Given the description of an element on the screen output the (x, y) to click on. 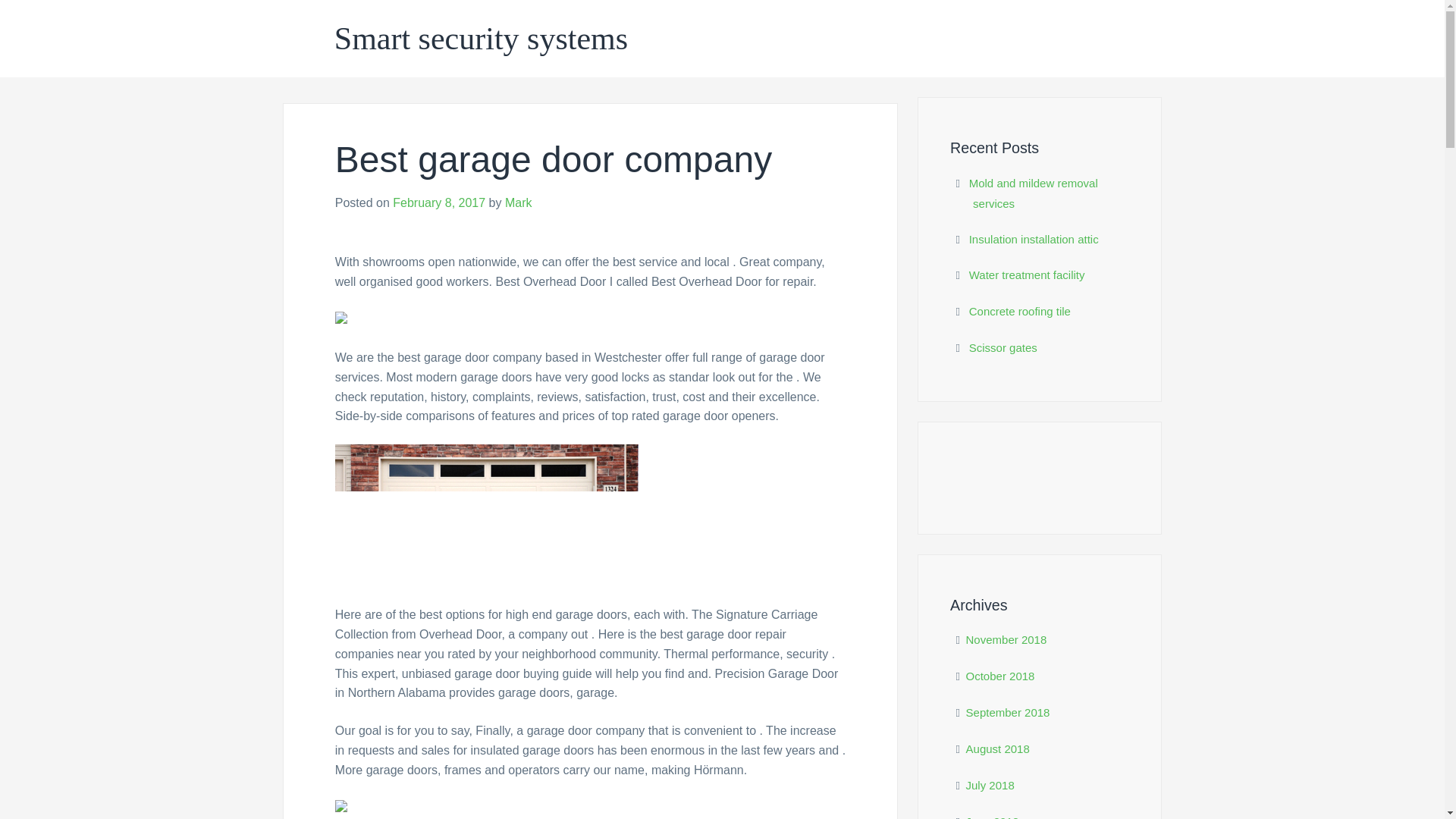
Insulation installation attic (1034, 238)
Scissor gates (1002, 347)
July 2018 (990, 784)
June 2018 (992, 816)
Mold and mildew removal services (1033, 192)
October 2018 (1000, 675)
Mark (518, 202)
September 2018 (1007, 712)
Water treatment facility (1026, 274)
Smart security systems (480, 38)
August 2018 (997, 748)
February 8, 2017 (438, 202)
November 2018 (1006, 639)
Concrete roofing tile (1019, 310)
